Given the description of an element on the screen output the (x, y) to click on. 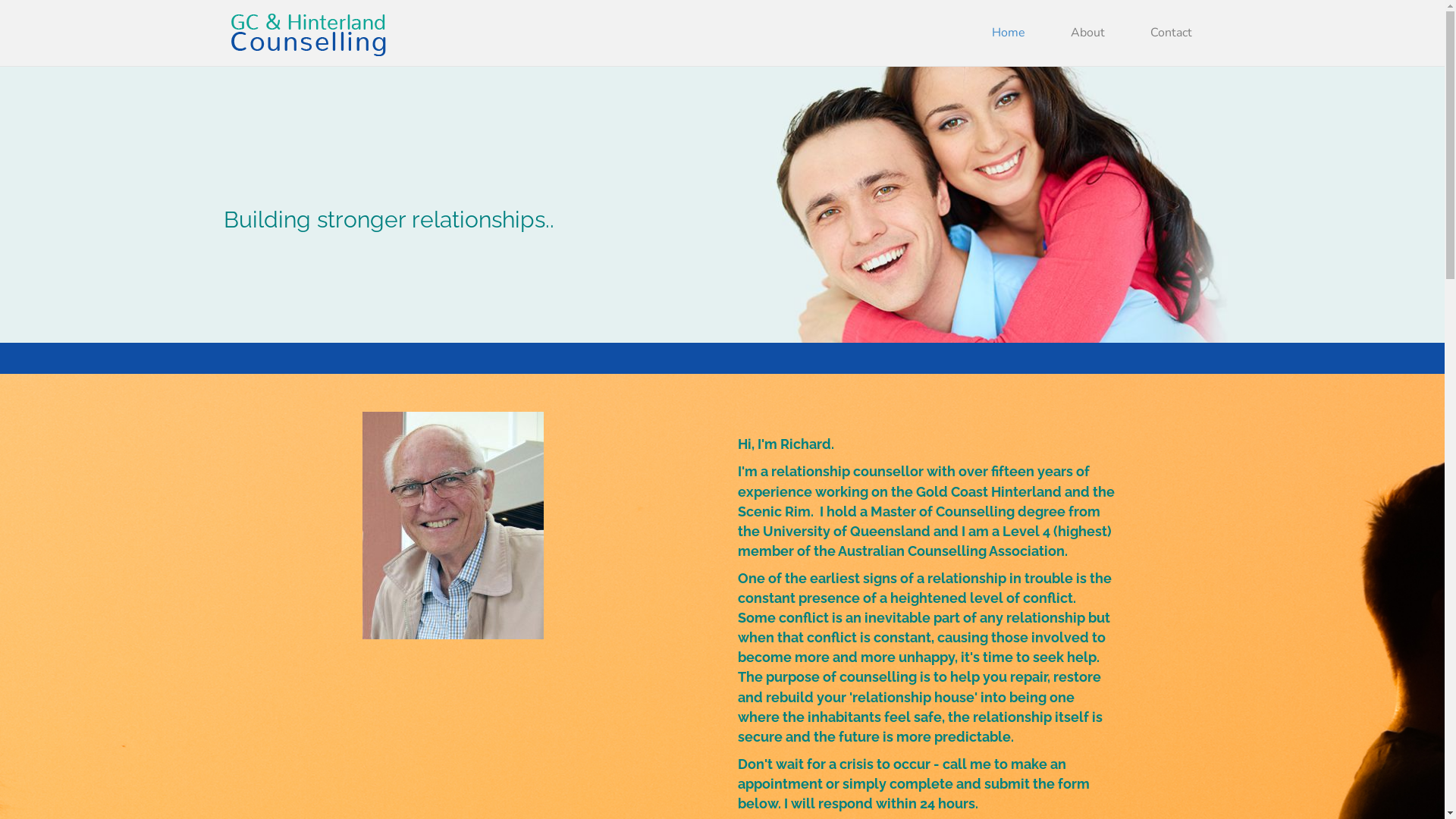
Contact Element type: text (1170, 32)
About Element type: text (1087, 32)
Rich Adelaide Element type: hover (452, 525)
Home Element type: text (1008, 32)
